Given the description of an element on the screen output the (x, y) to click on. 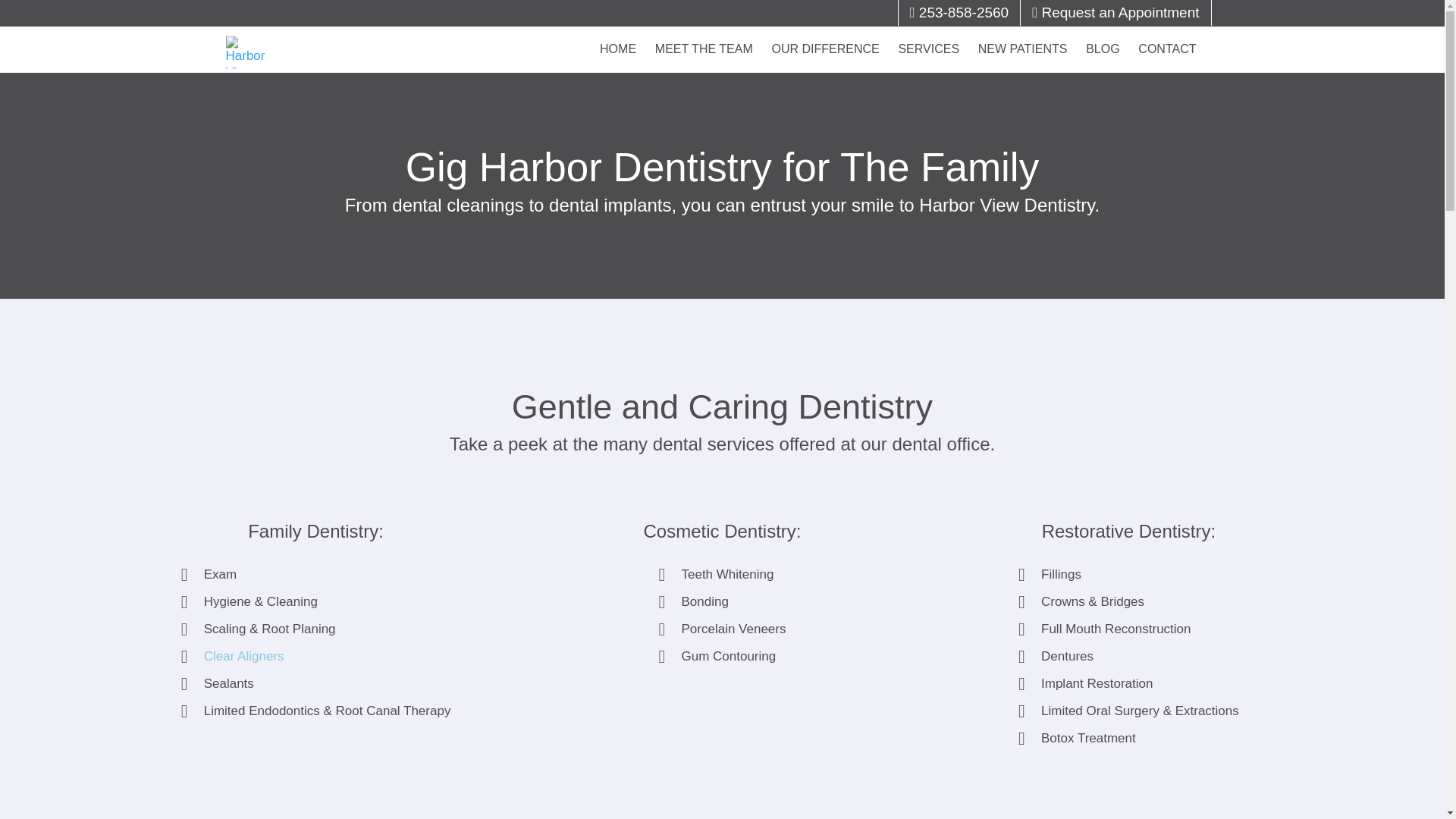
253-858-2560 (959, 12)
BLOG (1102, 28)
HOME (617, 28)
OUR DIFFERENCE (824, 28)
MEET THE TEAM (703, 28)
NEW PATIENTS (1023, 28)
CONTACT (1167, 28)
Clear Aligners (243, 656)
SERVICES (927, 28)
Request an Appointment (1114, 12)
